Given the description of an element on the screen output the (x, y) to click on. 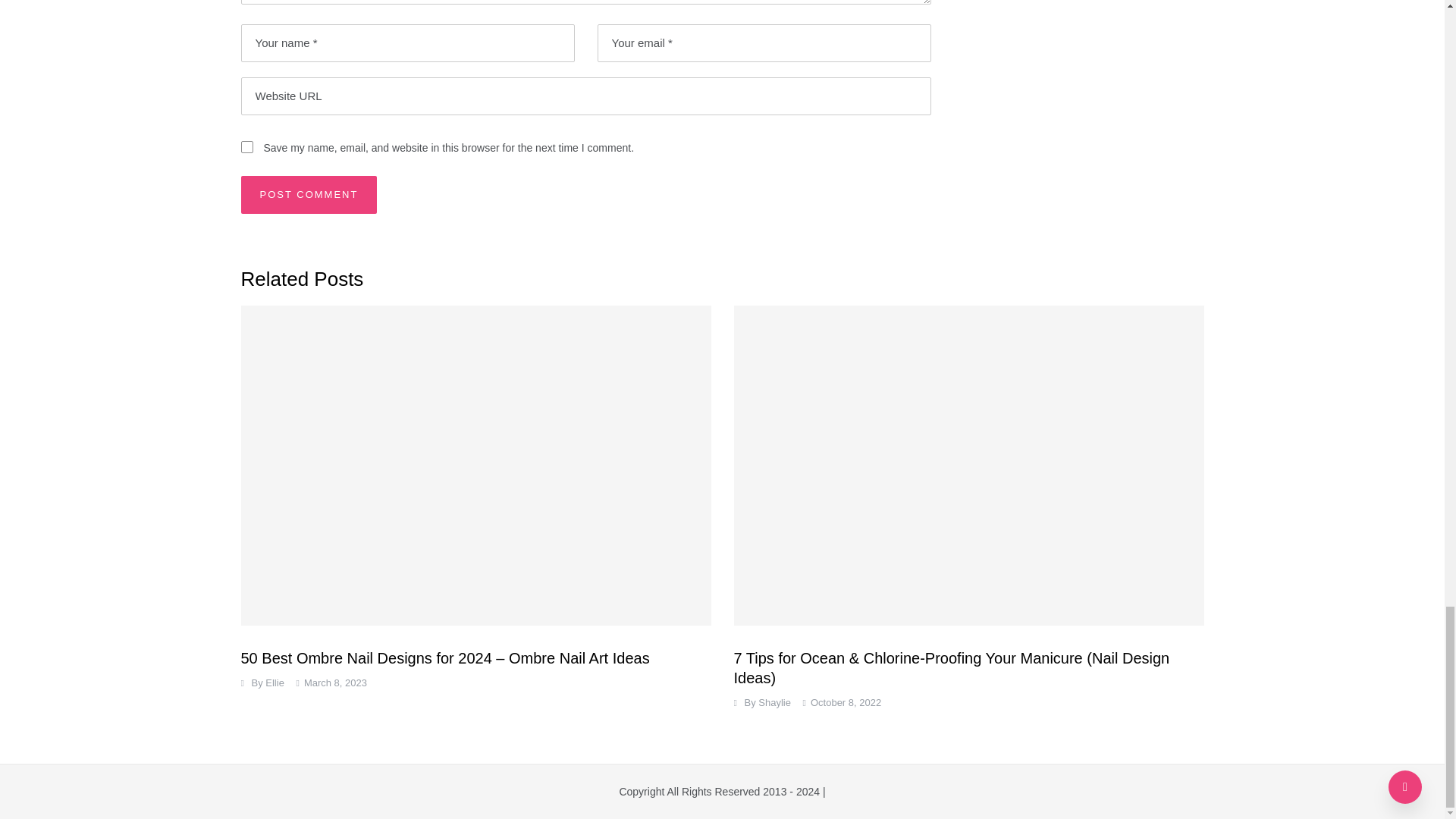
yes (247, 146)
Post Comment (309, 194)
